Given the description of an element on the screen output the (x, y) to click on. 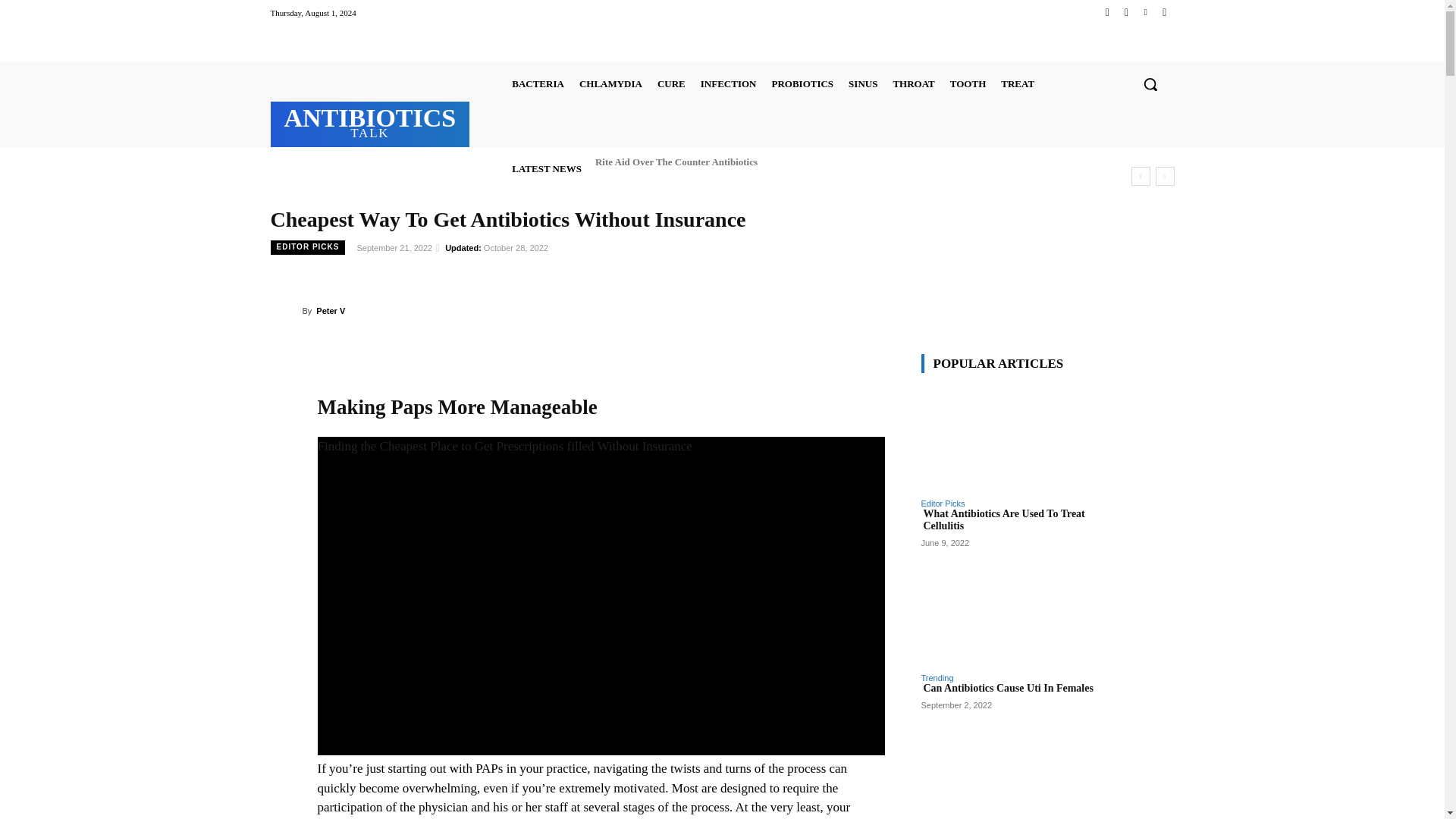
Facebook (1106, 12)
BACTERIA (537, 83)
Instagram (1125, 12)
CHLAMYDIA (370, 122)
